Given the description of an element on the screen output the (x, y) to click on. 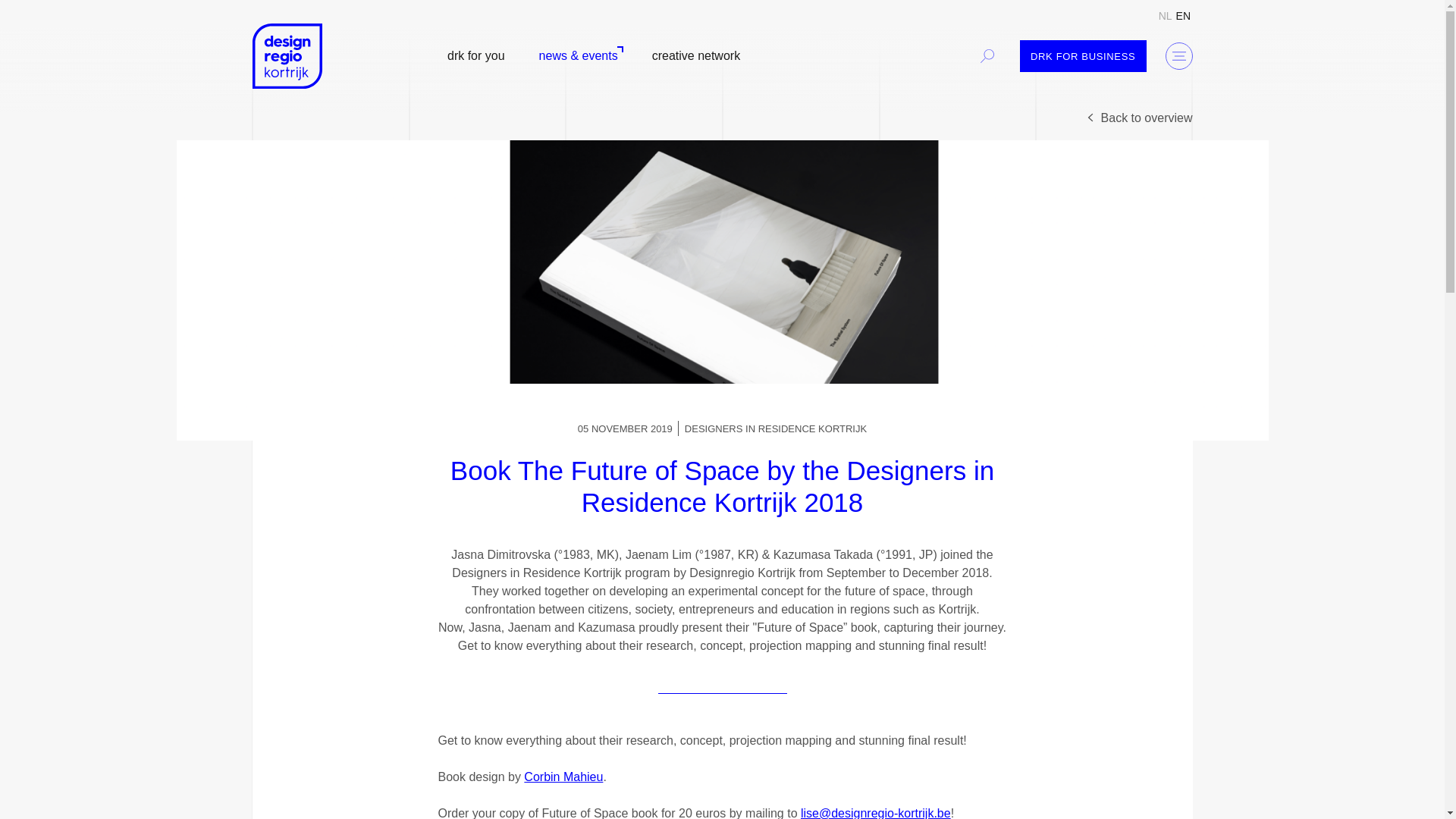
drk for you (476, 55)
DRK FOR BUSINESS (1083, 55)
NL (1164, 15)
Corbin Mahieu (563, 776)
creative network (695, 55)
EN (1182, 15)
Back to overview (1138, 118)
DESIGNERS IN RESIDENCE KORTRIJK (775, 428)
